Given the description of an element on the screen output the (x, y) to click on. 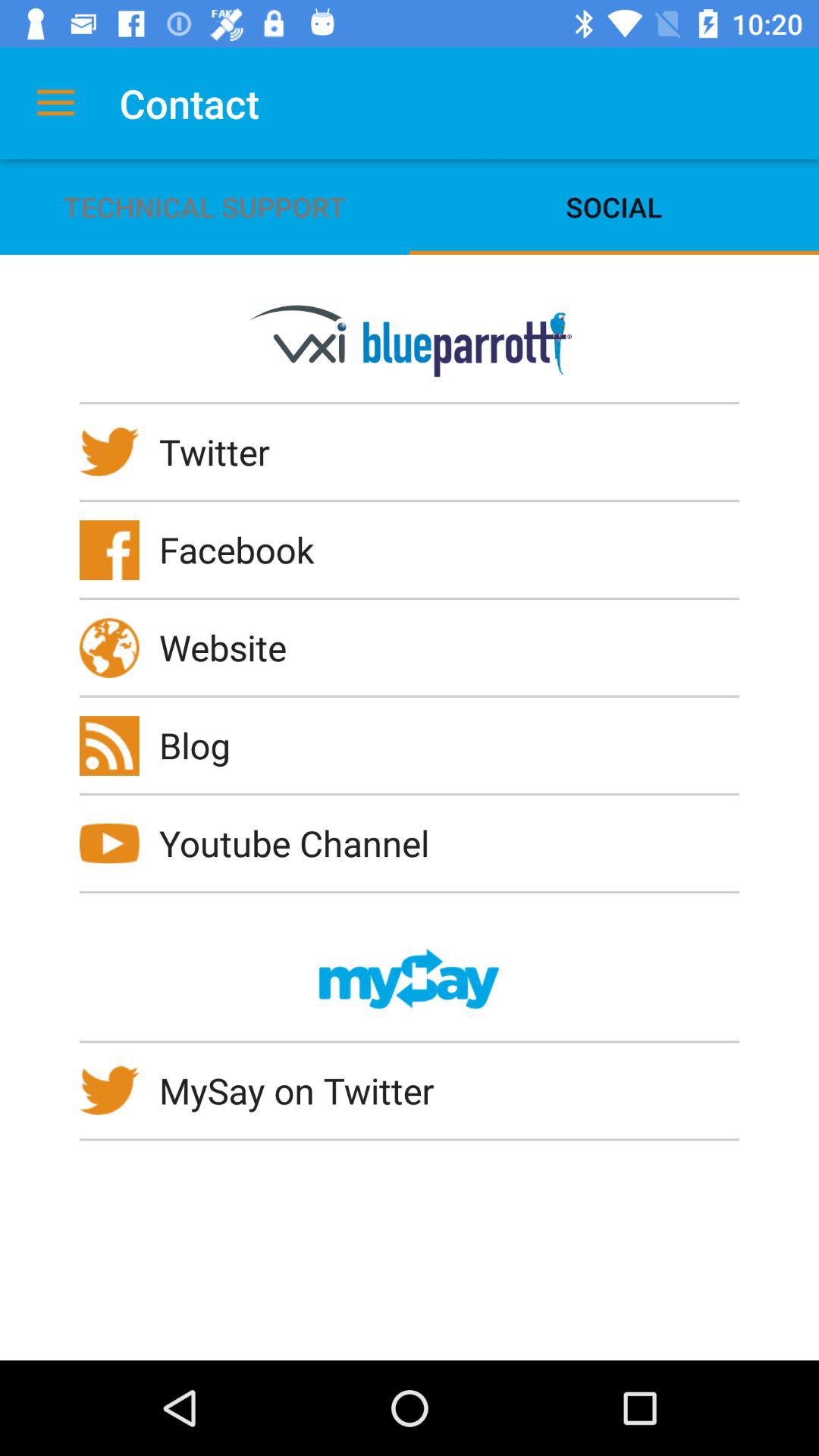
swipe to the blog item (204, 745)
